Given the description of an element on the screen output the (x, y) to click on. 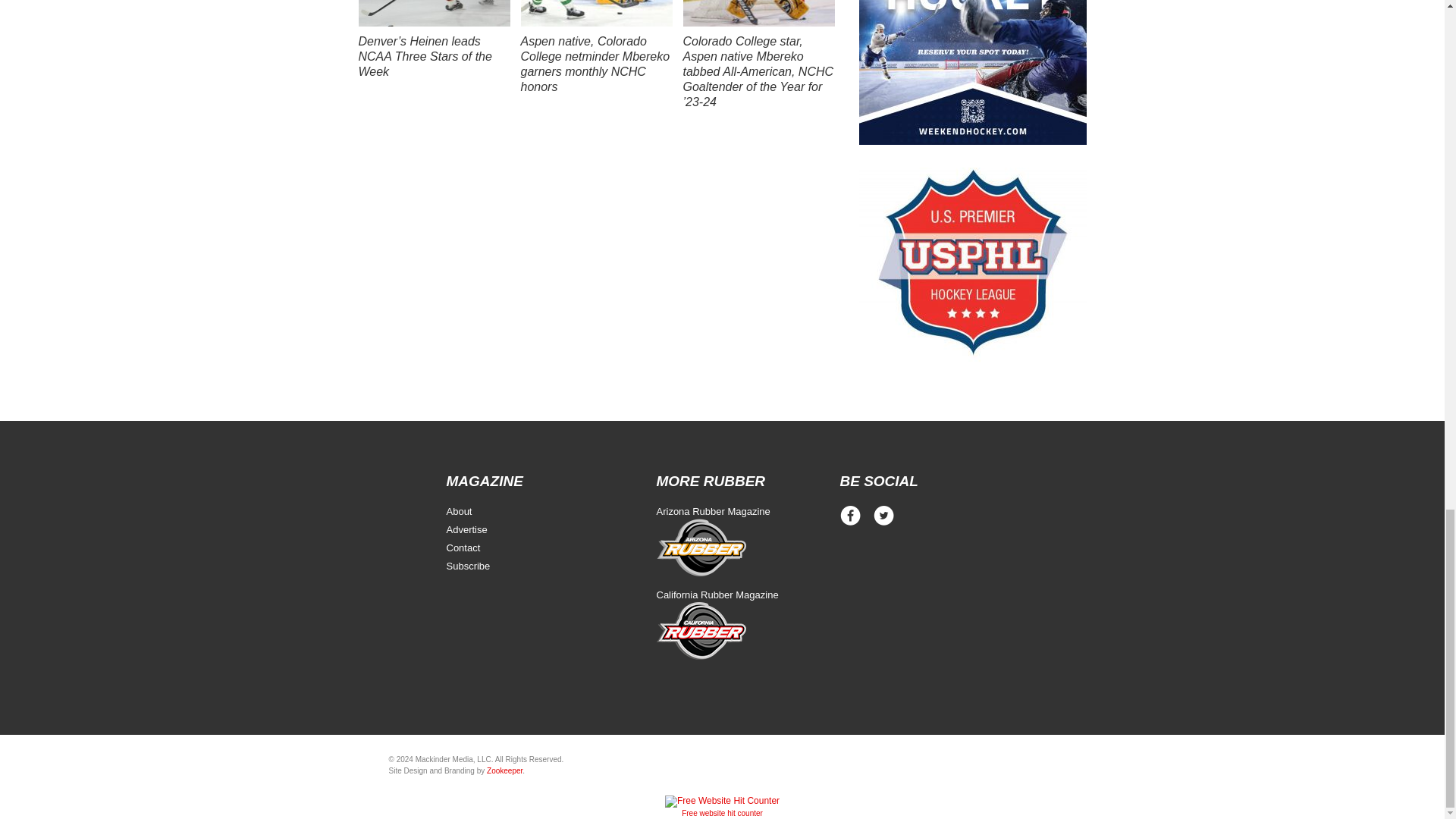
Free Website Hit Counter (721, 813)
Zookeeper (504, 770)
